Given the description of an element on the screen output the (x, y) to click on. 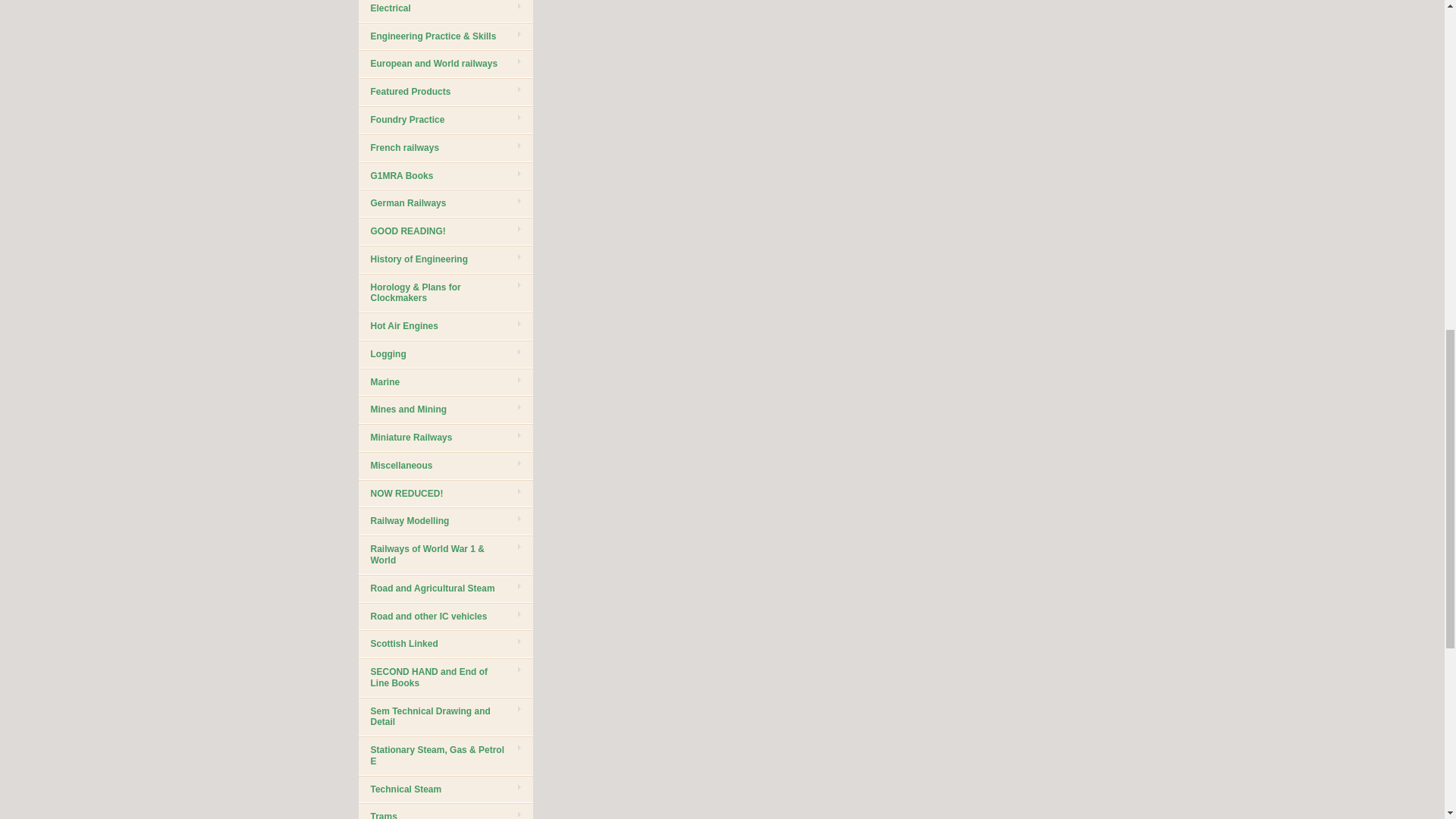
German Railways (445, 203)
G1MRA Books (445, 176)
European and World railways (445, 63)
European and World railways (445, 63)
Electrical (445, 11)
French railways (445, 148)
Foundry Practice (445, 120)
Featured Products (445, 91)
Electrical (445, 11)
History of Engineering (445, 259)
GOOD READING! (445, 231)
